Given the description of an element on the screen output the (x, y) to click on. 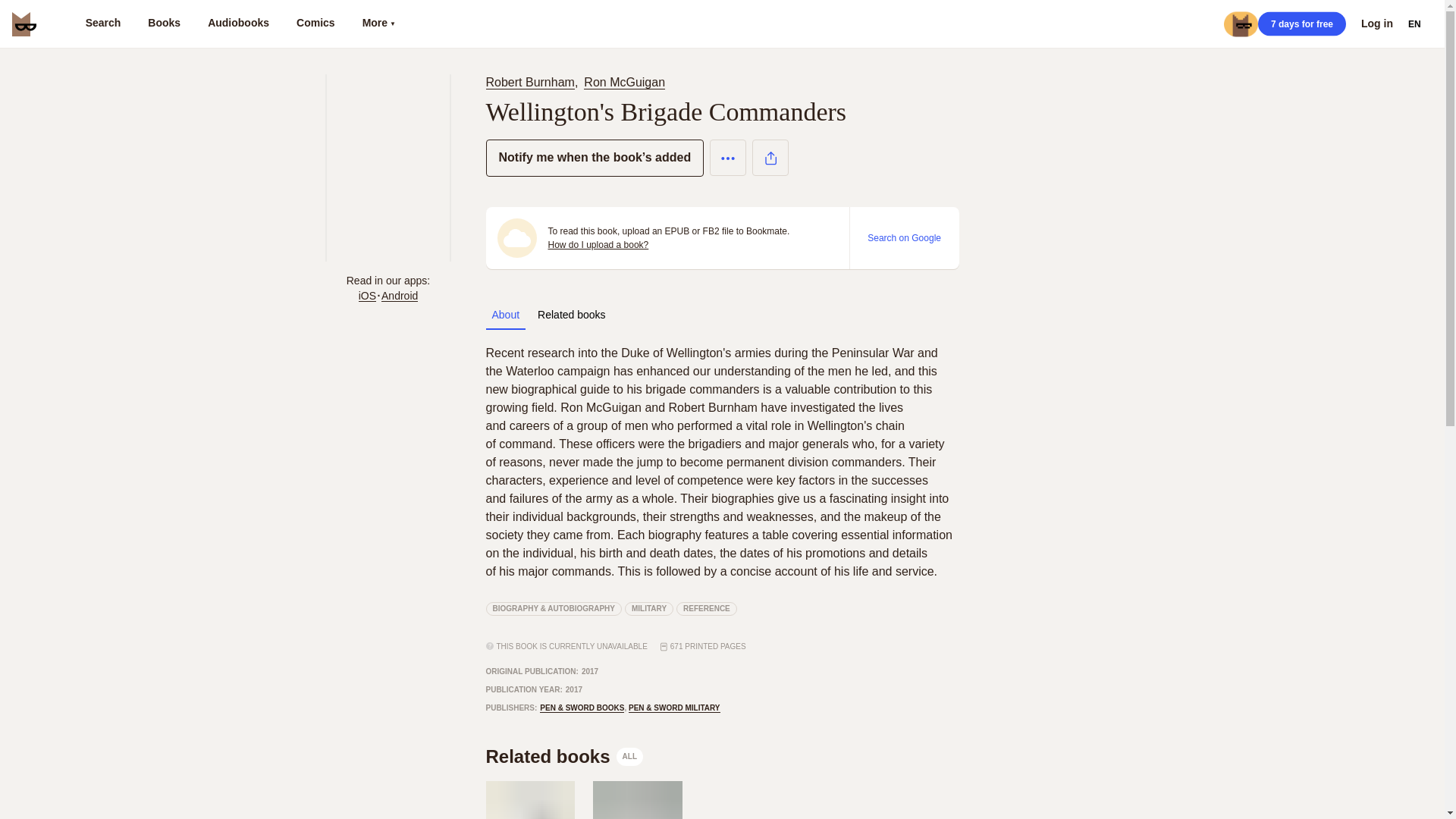
Robert Burnham (563, 756)
Related books (528, 82)
How do I upload a book? (571, 314)
Search on Google (597, 244)
About (903, 237)
REFERENCE (504, 314)
Audiobooks (706, 608)
